Given the description of an element on the screen output the (x, y) to click on. 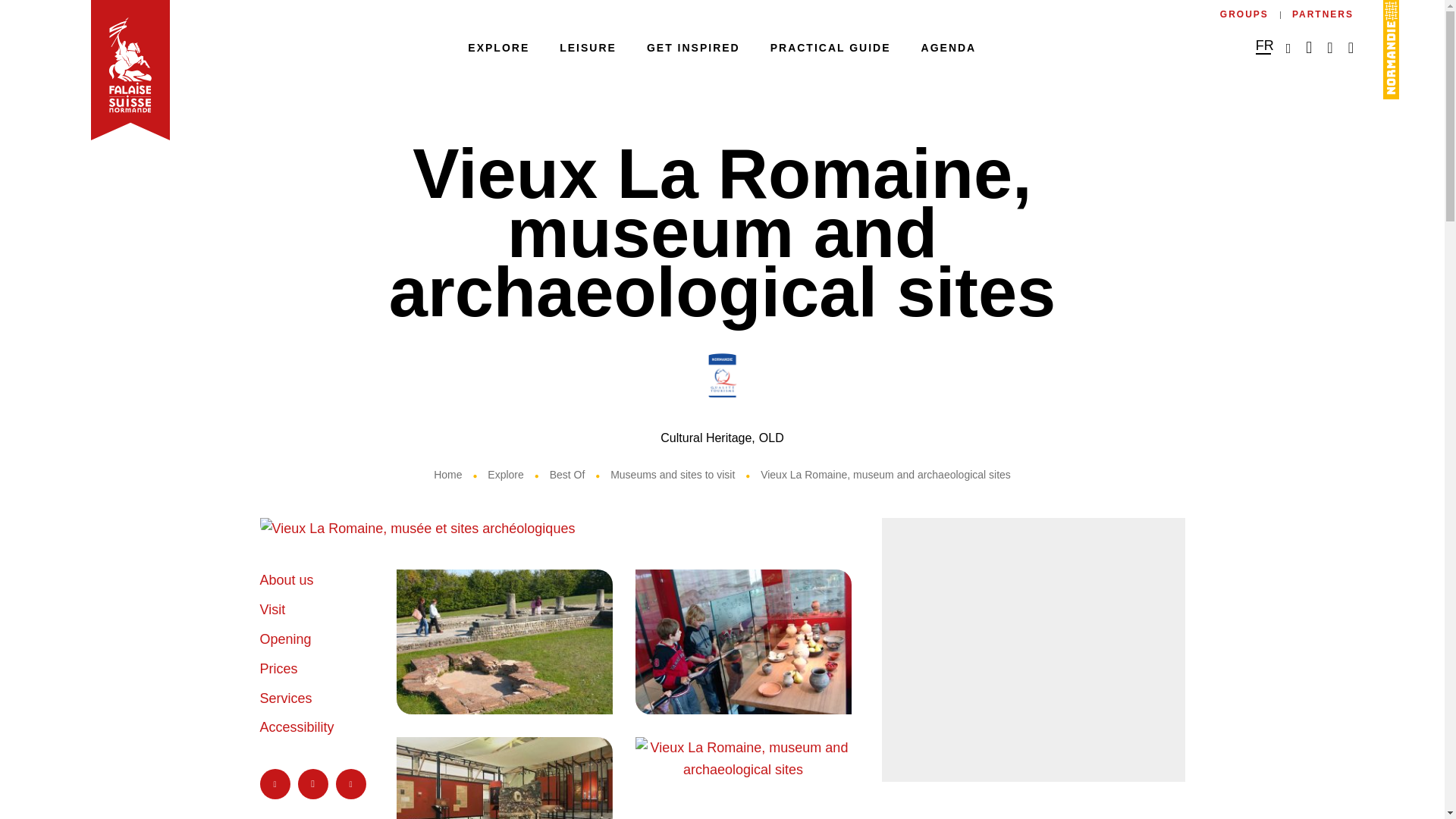
EXPLORE (498, 47)
Vieux La Romaine, museum and archaeological sites (503, 641)
Weather (1308, 48)
02 31 90 17 26 (1288, 48)
Vieux La Romaine, museum and archaeological sites (554, 528)
Search (1351, 48)
PARTNERS (1323, 14)
GROUPS (1244, 14)
Contact (1329, 48)
LEISURE (587, 47)
